Given the description of an element on the screen output the (x, y) to click on. 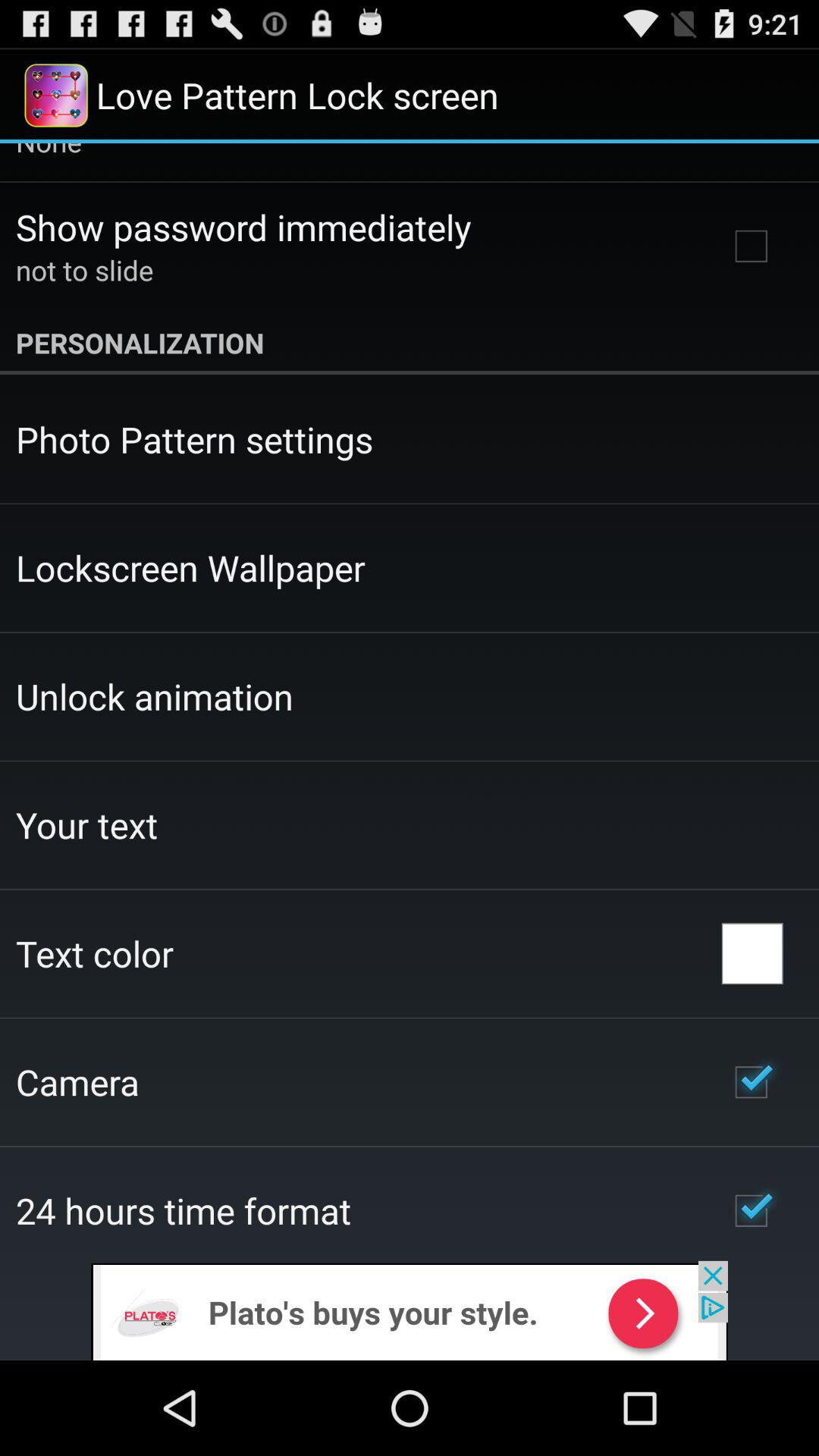
select the top right checkbox (750, 246)
click on icon on the right side of camera (750, 1081)
click on icon on the right side of 24 hours time format (750, 1211)
